Given the description of an element on the screen output the (x, y) to click on. 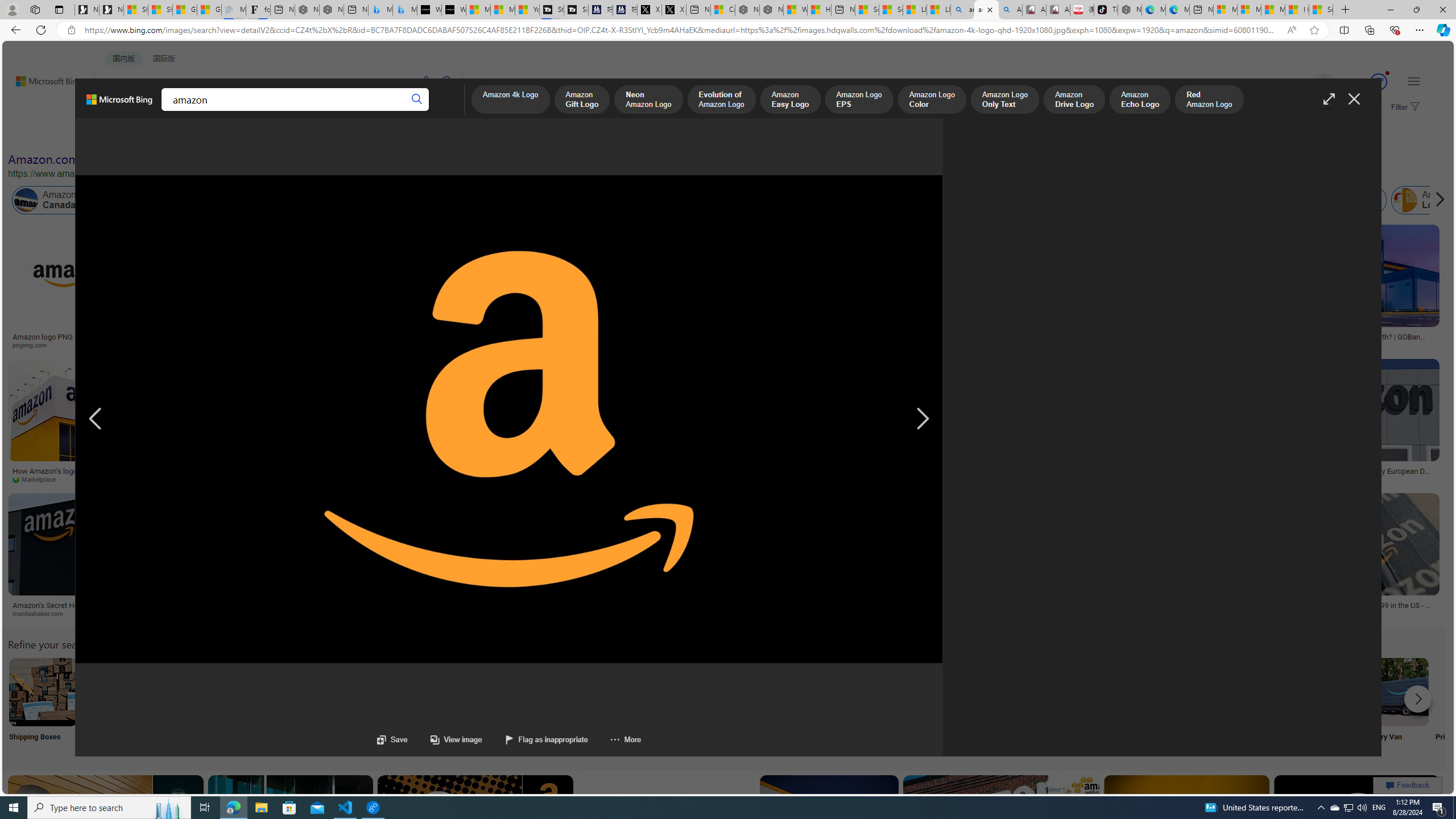
Amazon Prime Label (1018, 691)
Amazon Online Store (644, 691)
Amazon Mini TV (794, 691)
Amazon Package (1346, 199)
3d illustration of amazon logo 18779928 PNG (577, 474)
Amazon.com. Spend less. Smile more. (110, 158)
Online Shopping Homepage (868, 706)
Amazon Log into My Account Log into My Account (268, 706)
Amazon Online Shopping Homepage (868, 691)
Amazon Canada Online (65, 199)
